Given the description of an element on the screen output the (x, y) to click on. 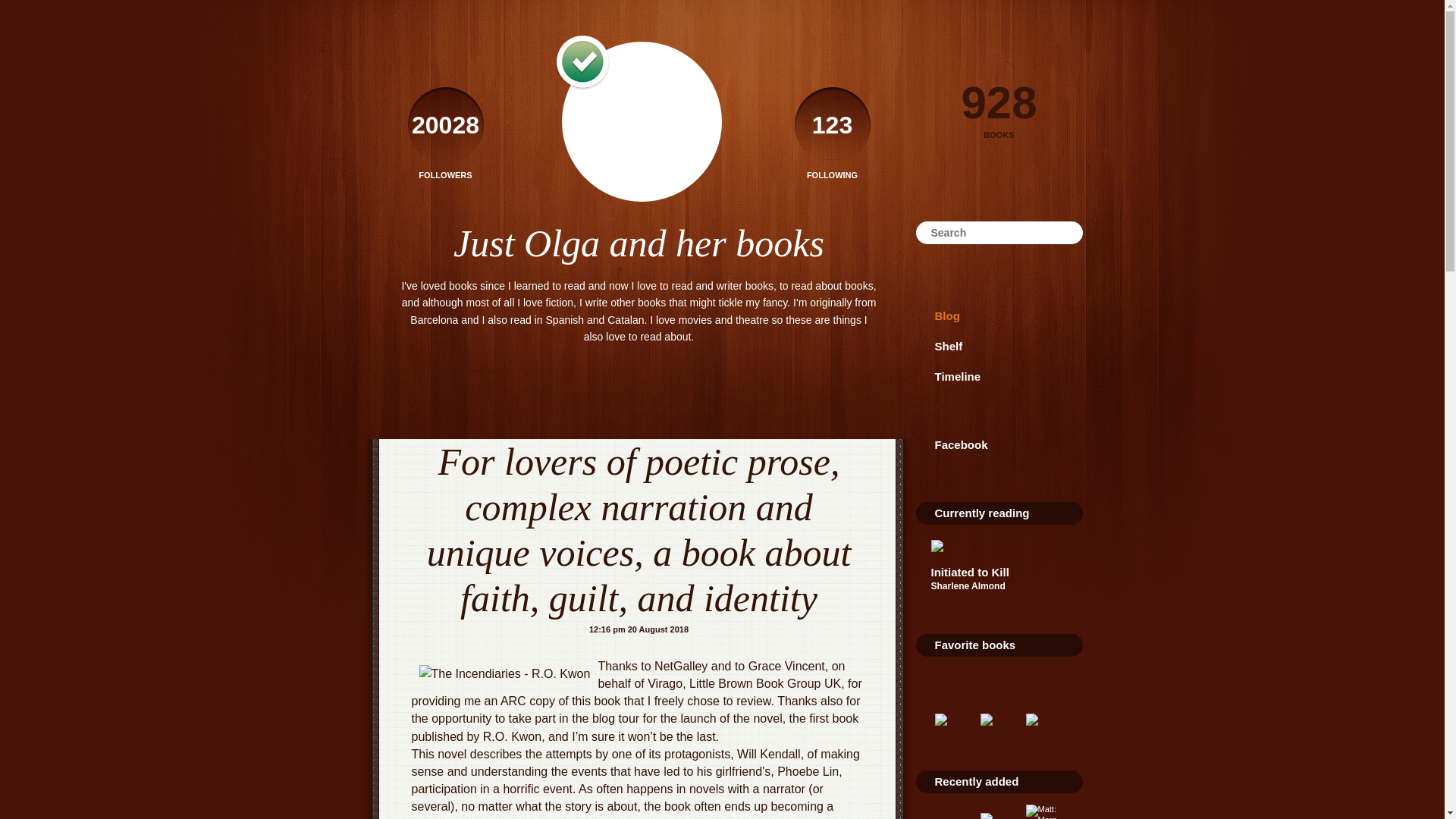
Just Olga and her books (638, 242)
Facebook (999, 444)
928 (999, 97)
Blog (999, 316)
Recently added (975, 780)
Favorite books (974, 644)
12:16 pm 20 August 2018 (638, 628)
verified (581, 62)
BOOKS (999, 135)
Currently reading (981, 512)
Shelf (999, 346)
Timeline (999, 376)
